Given the description of an element on the screen output the (x, y) to click on. 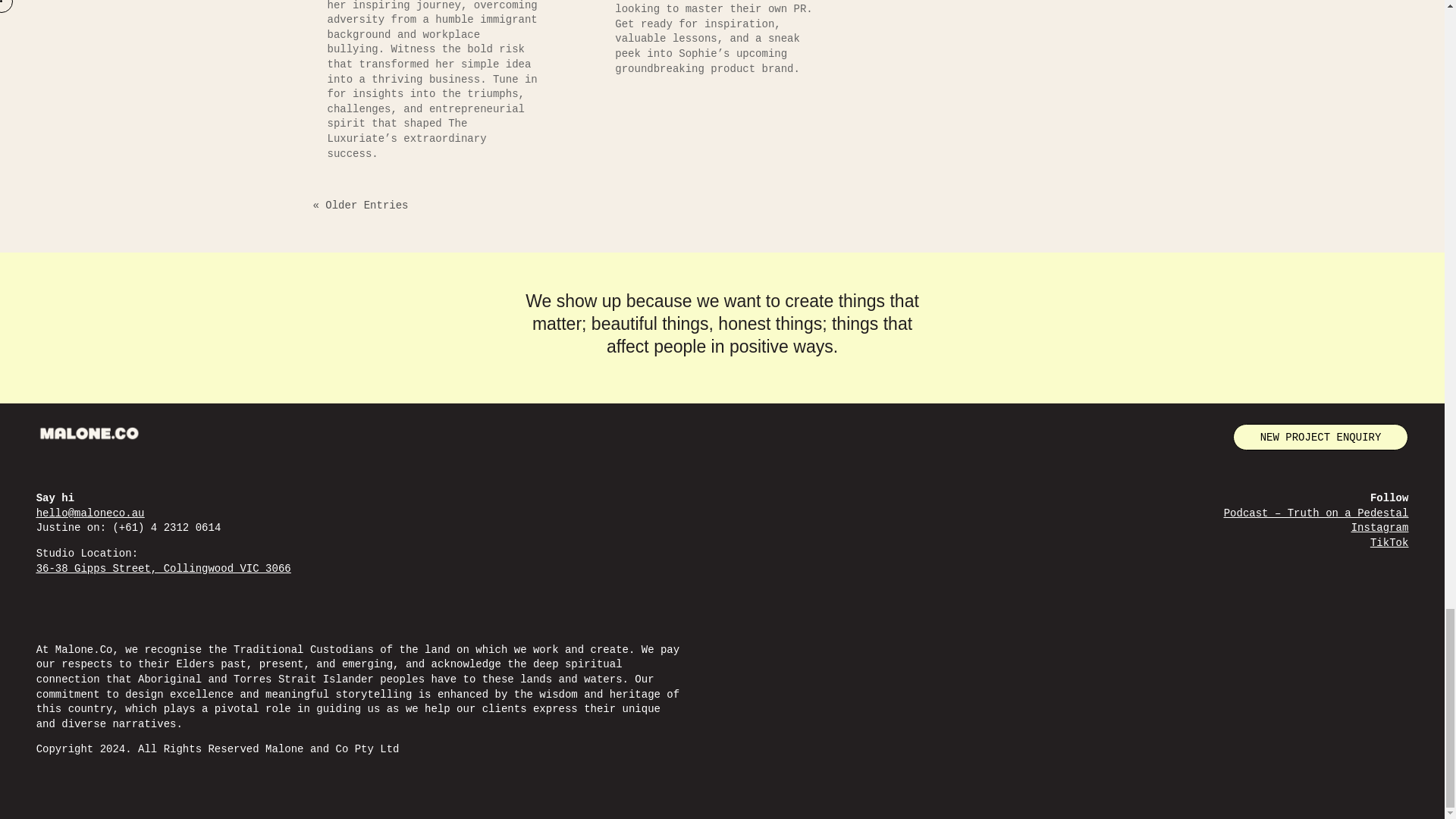
MaloneCo (89, 433)
